Given the description of an element on the screen output the (x, y) to click on. 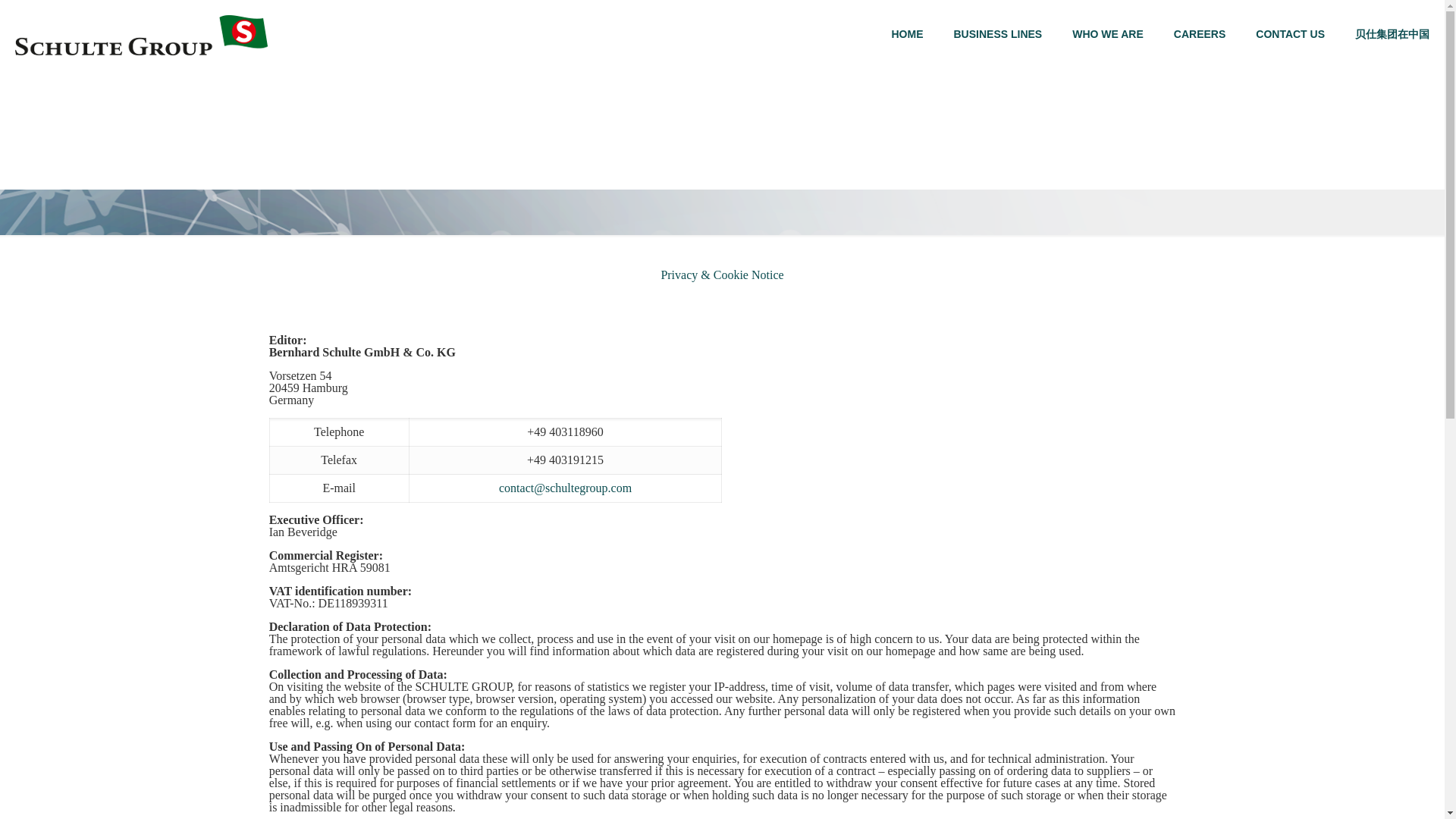
CAREERS (1199, 33)
Schulte Group (140, 33)
BUSINESS LINES (998, 33)
CONTACT US (1289, 33)
HOME (907, 33)
WHO WE ARE (1107, 33)
